Given the description of an element on the screen output the (x, y) to click on. 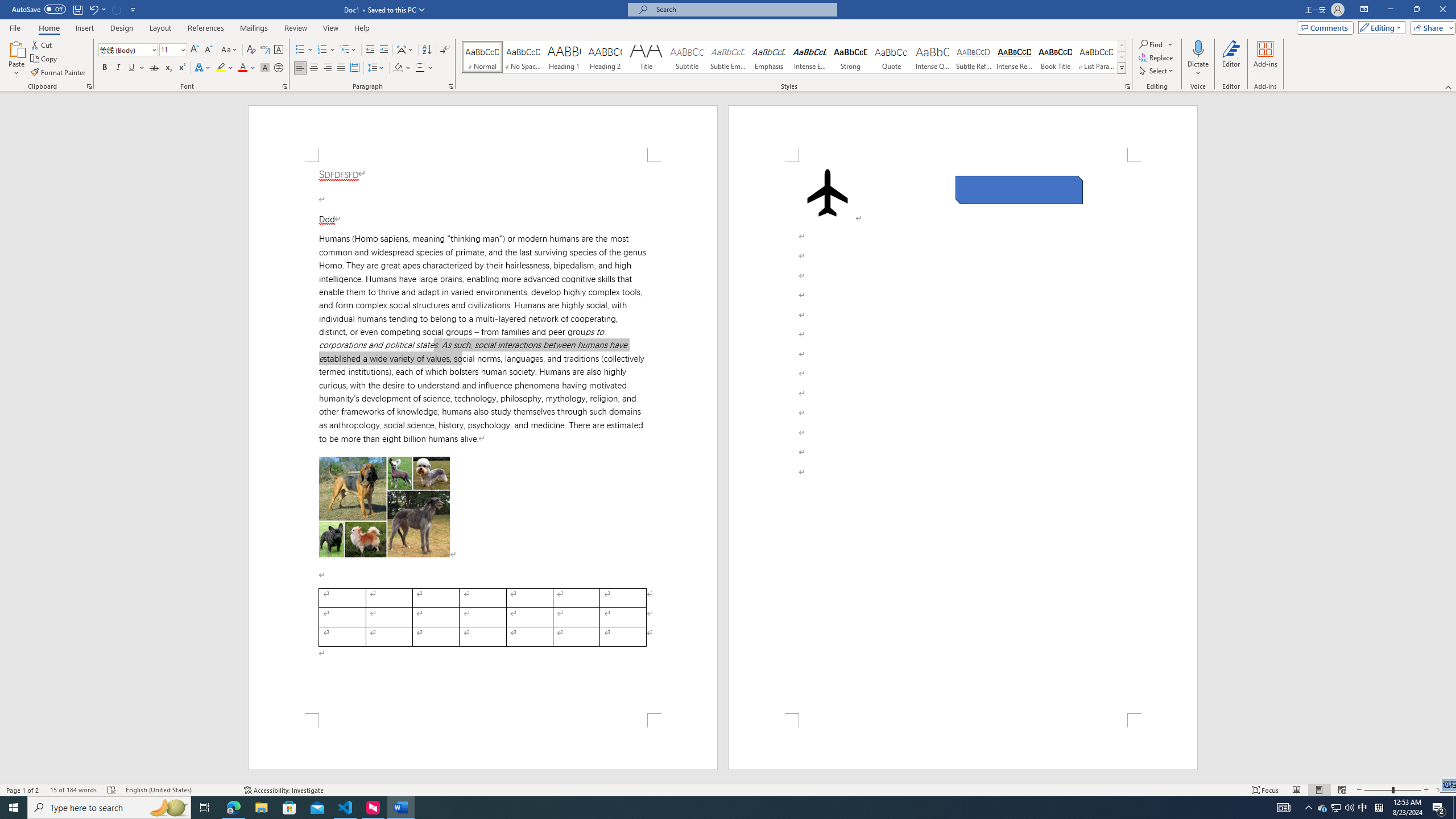
Focus  (1265, 790)
Intense Emphasis (809, 56)
Show/Hide Editing Marks (444, 49)
View (330, 28)
Text Highlight Color Yellow (220, 67)
Class: NetUIImage (1121, 68)
Class: NetUIScrollBar (1450, 437)
Font (124, 49)
Book Title (1055, 56)
File Tab (15, 27)
Office Clipboard... (88, 85)
Find (1151, 44)
Close (1442, 9)
Page 1 content (482, 437)
